Given the description of an element on the screen output the (x, y) to click on. 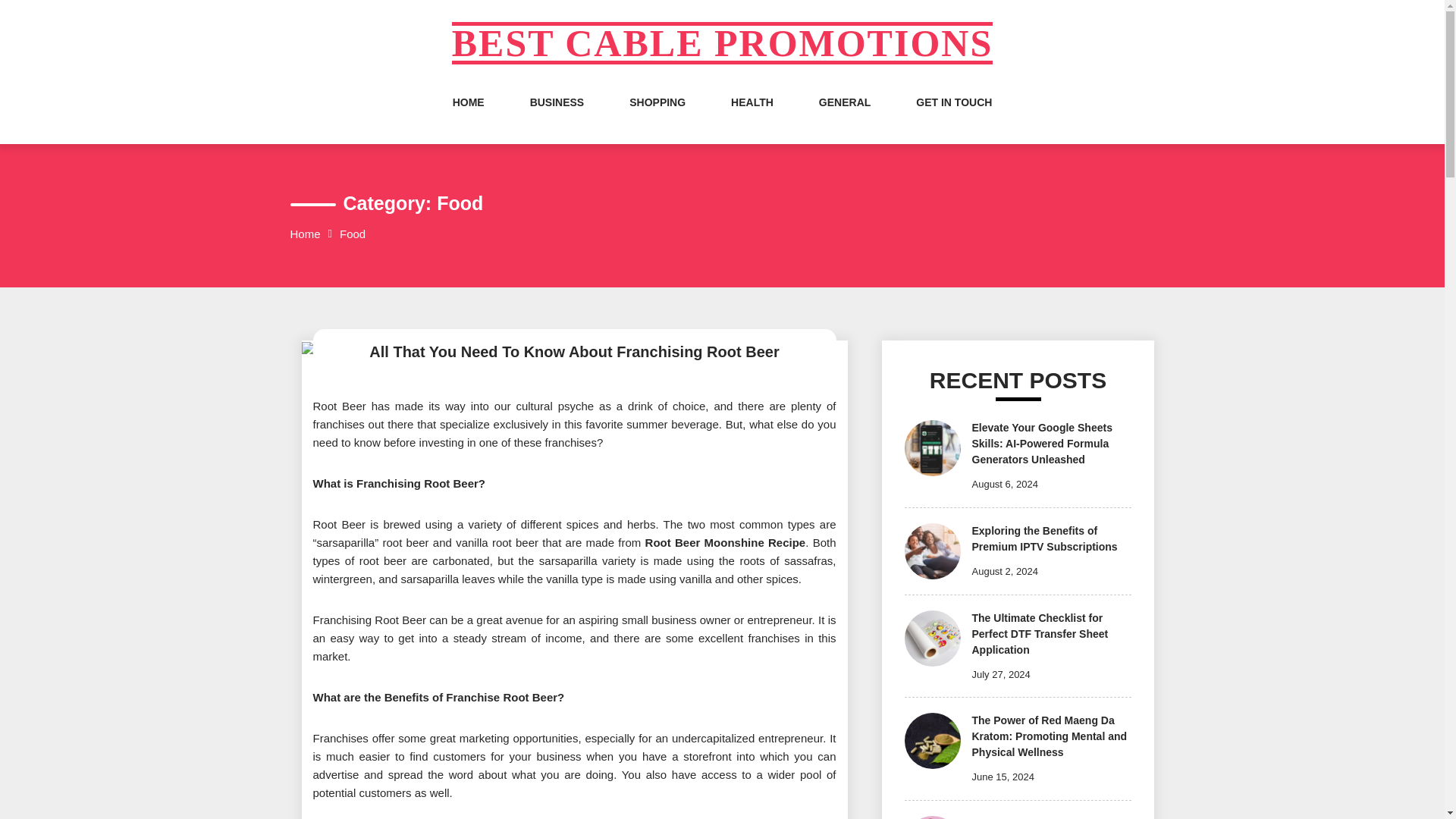
GET IN TOUCH (953, 117)
HEALTH (751, 117)
BUSINESS (557, 117)
Exploring the Benefits of Premium IPTV Subscriptions (1045, 538)
GENERAL (844, 117)
Home (304, 233)
Are Amanita Muscaria Mushroom Gummies Safe to Consume? (1044, 818)
